Given the description of an element on the screen output the (x, y) to click on. 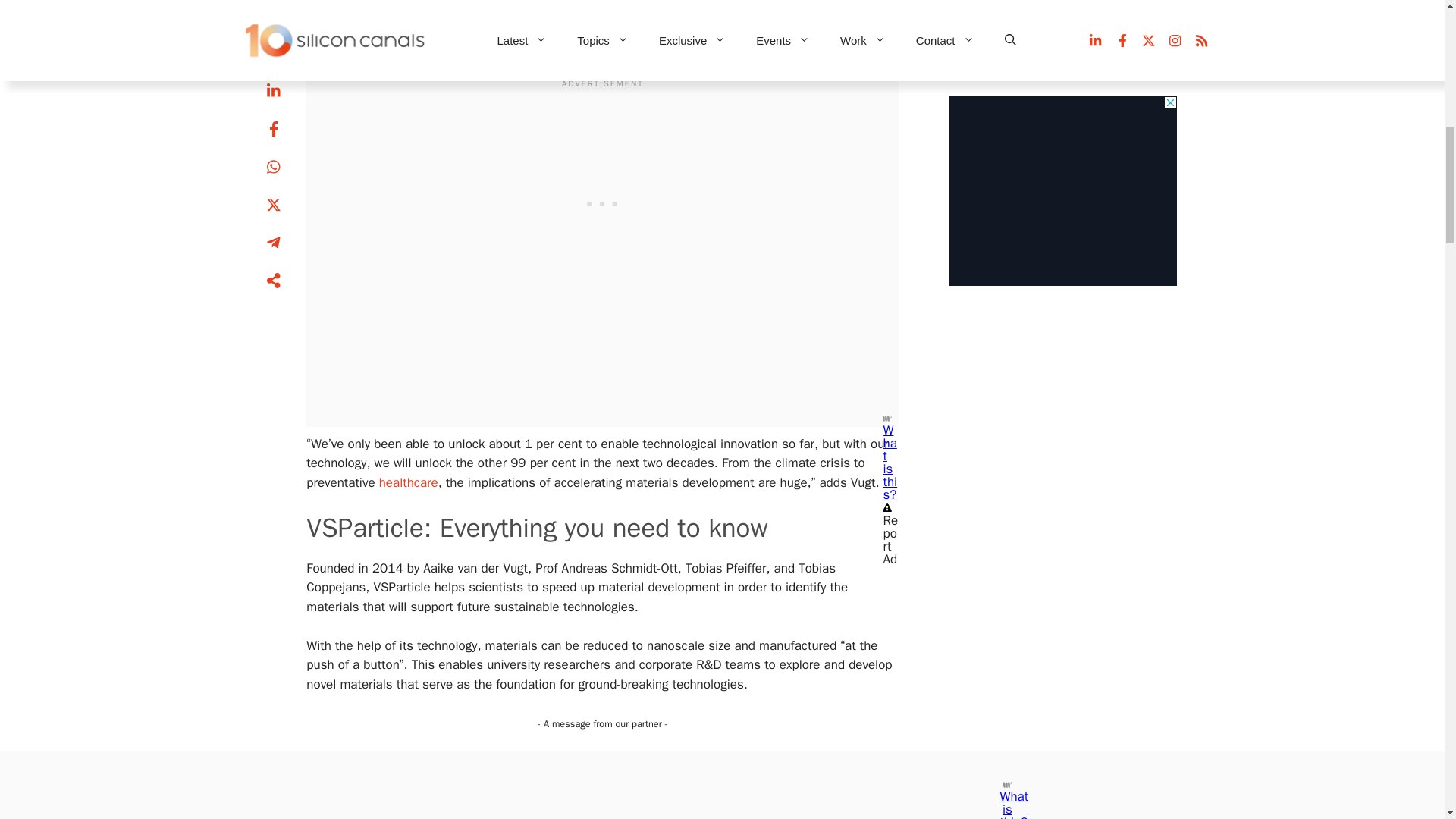
3rd party ad content (603, 199)
3rd party ad content (1062, 40)
Scroll back to top (1406, 720)
